Given the description of an element on the screen output the (x, y) to click on. 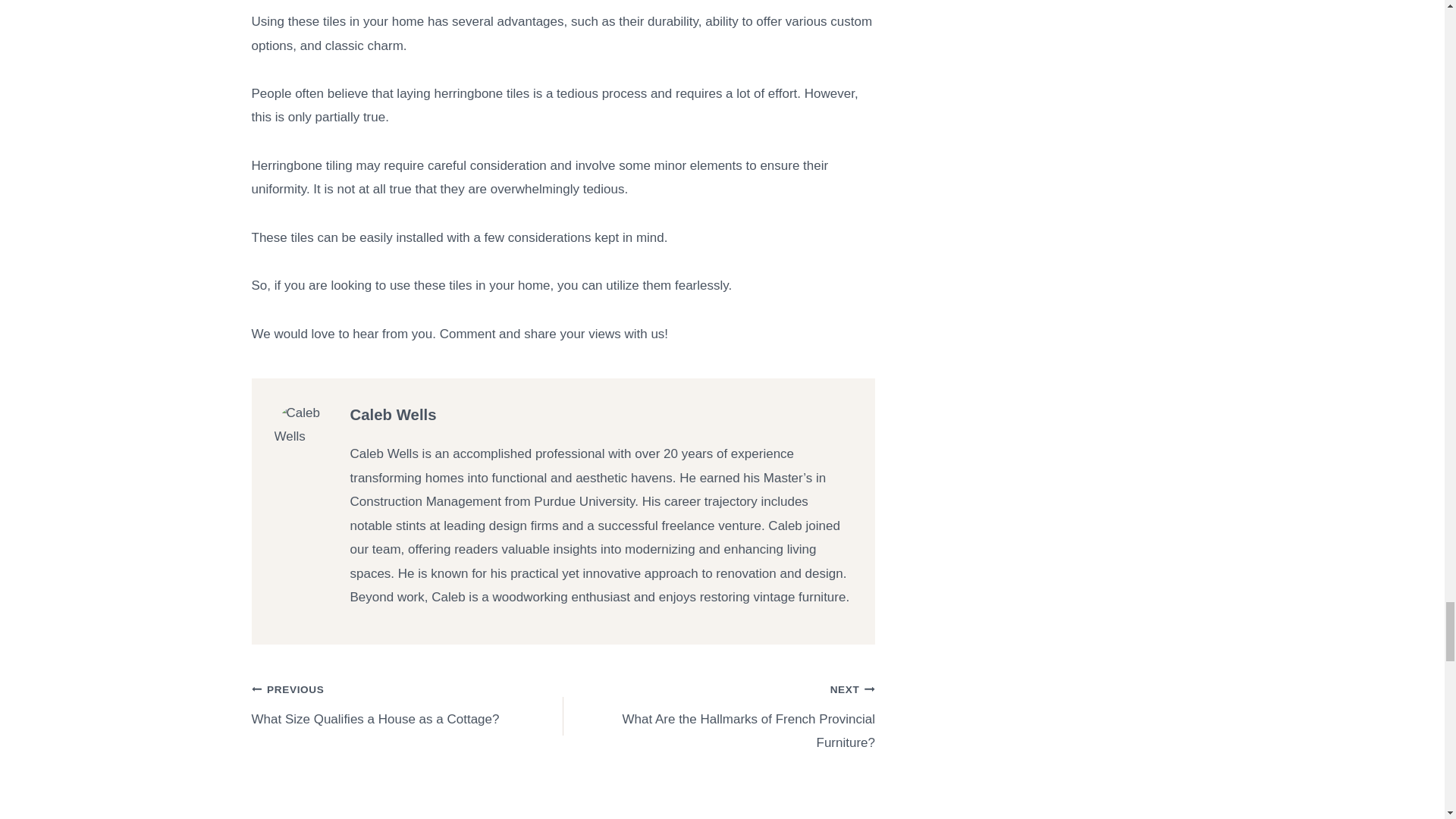
Posts by Caleb Wells (393, 414)
Caleb Wells (407, 704)
